Given the description of an element on the screen output the (x, y) to click on. 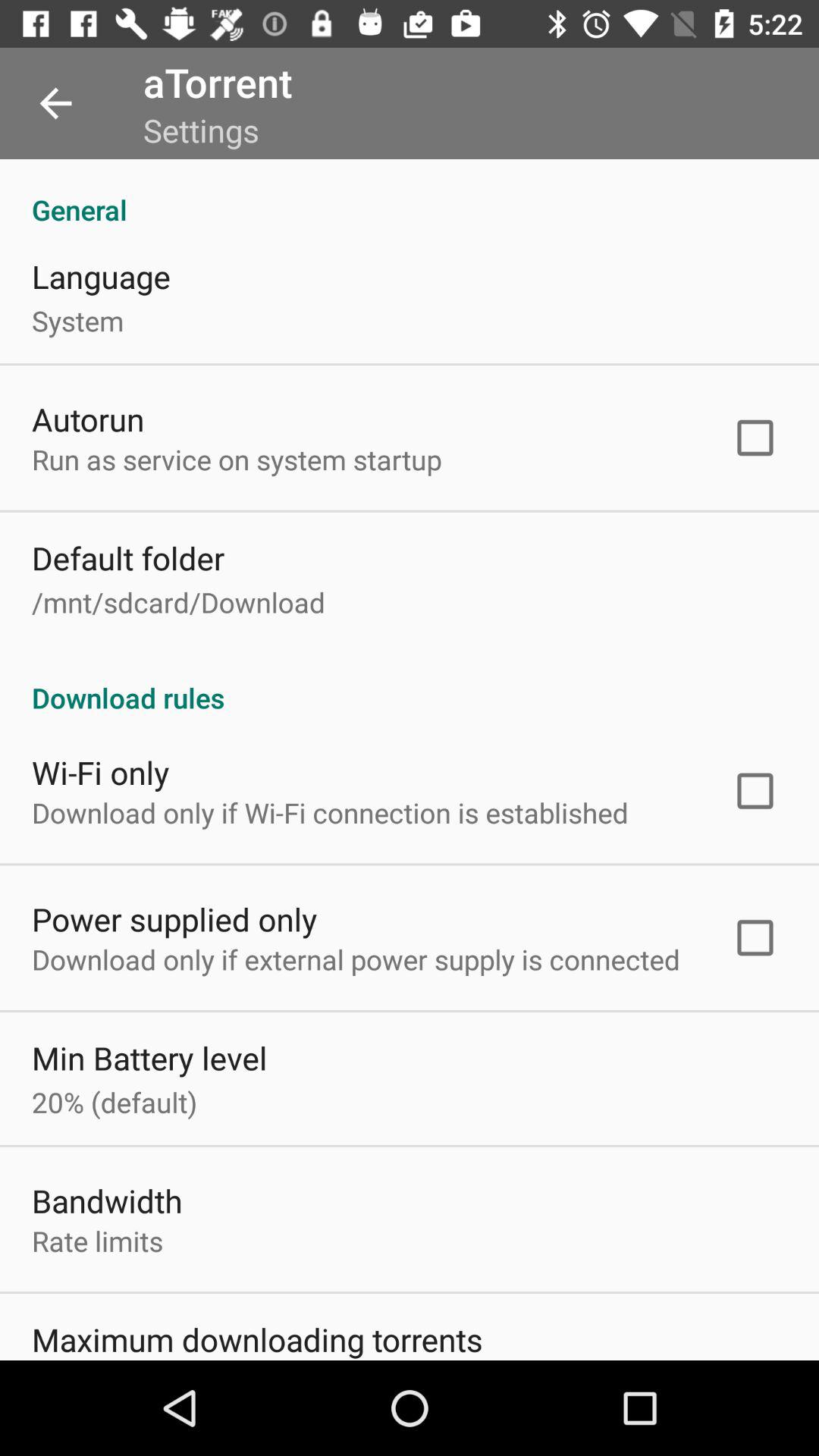
launch the language item (100, 276)
